Given the description of an element on the screen output the (x, y) to click on. 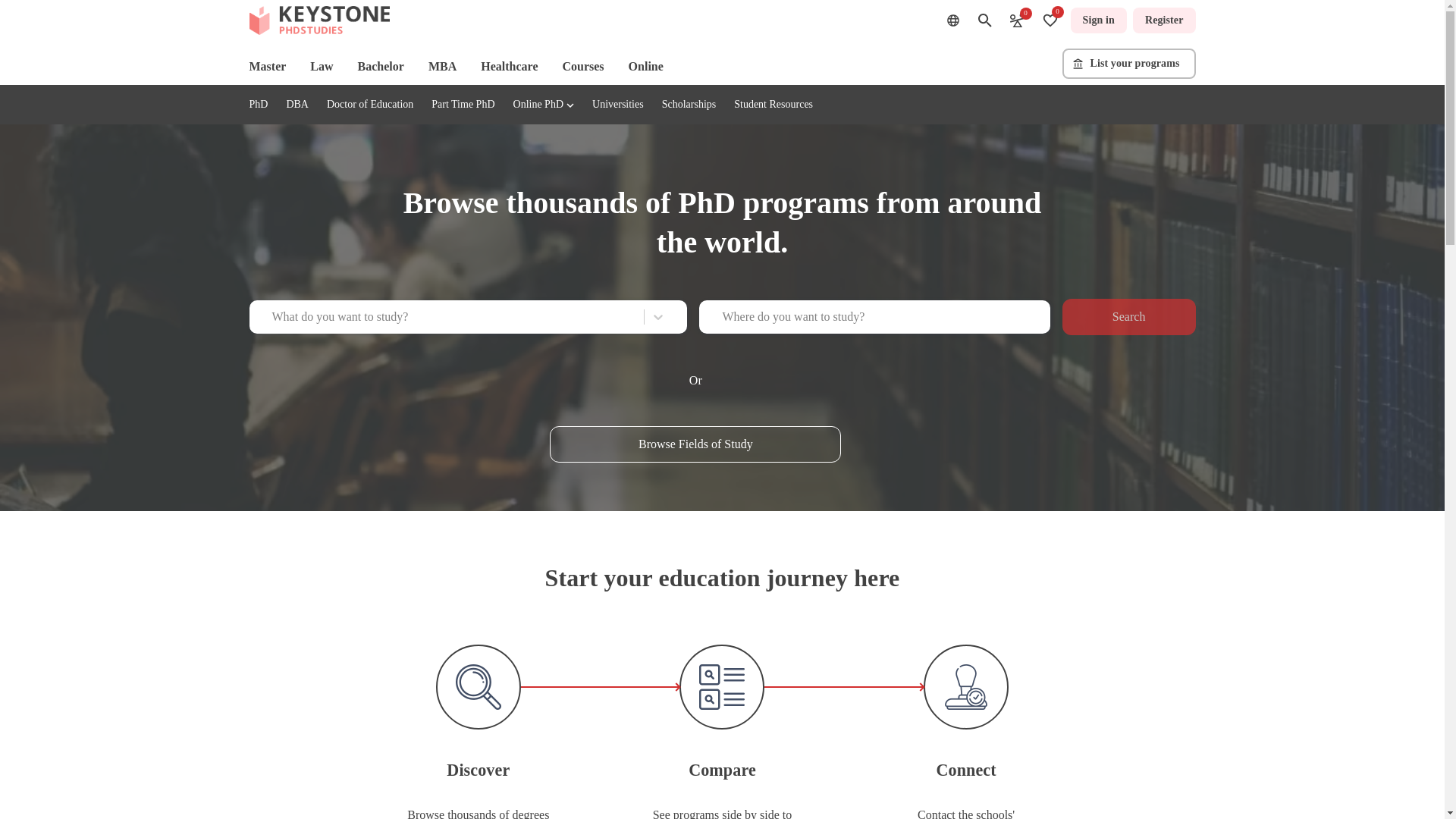
Courses (583, 66)
Healthcare (508, 66)
Student Resources (772, 103)
0 (1050, 20)
Online (645, 66)
0 (1016, 20)
List your programs (1128, 63)
Bachelor (381, 66)
DBA (296, 103)
